Given the description of an element on the screen output the (x, y) to click on. 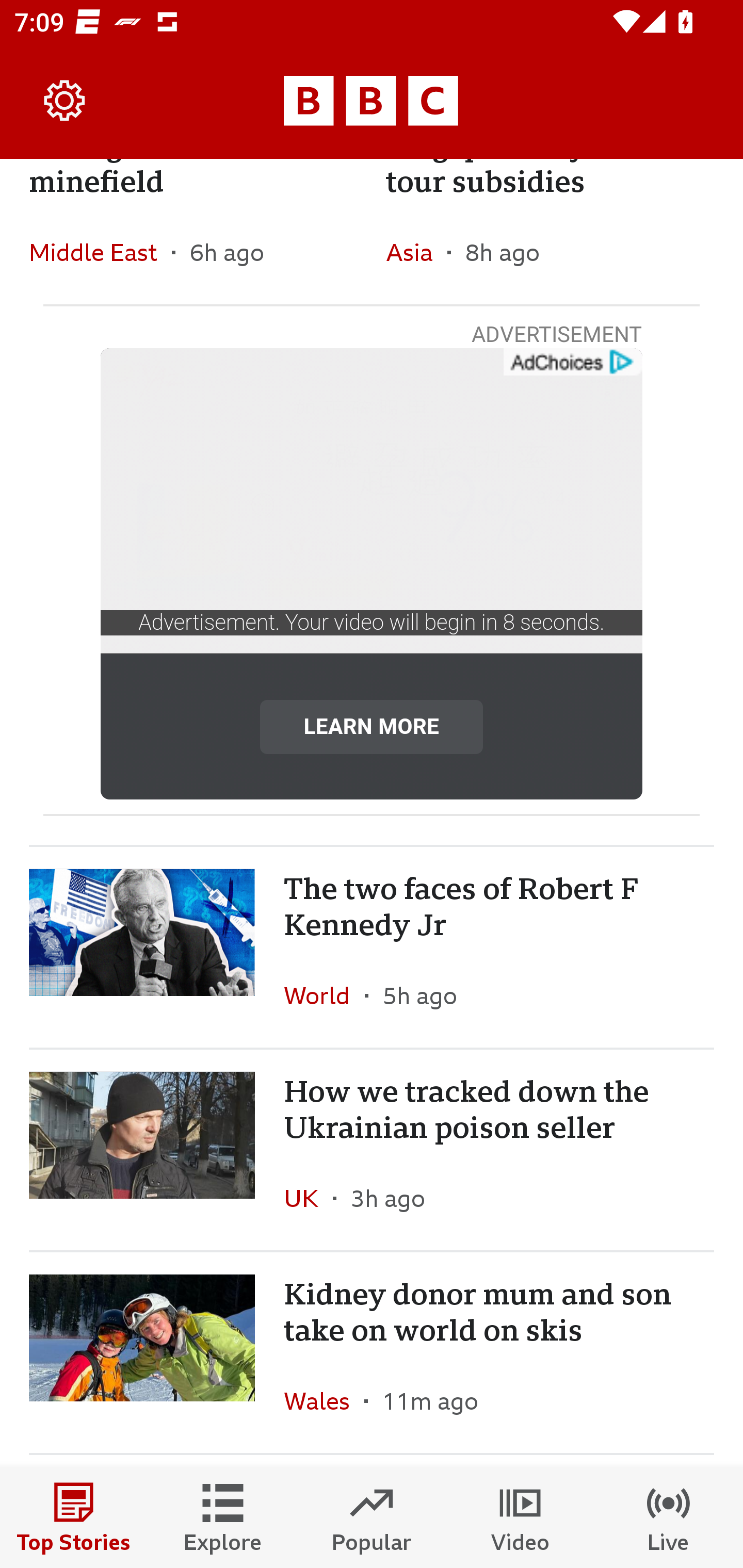
Settings (64, 100)
Middle East In the section Middle East (99, 252)
Asia In the section Asia (416, 252)
get?name=admarker-full-tl (571, 362)
LEARN MORE (371, 725)
World In the section World (323, 995)
UK In the section UK (307, 1197)
Wales In the section Wales (323, 1400)
Explore (222, 1517)
Popular (371, 1517)
Video (519, 1517)
Live (668, 1517)
